Given the description of an element on the screen output the (x, y) to click on. 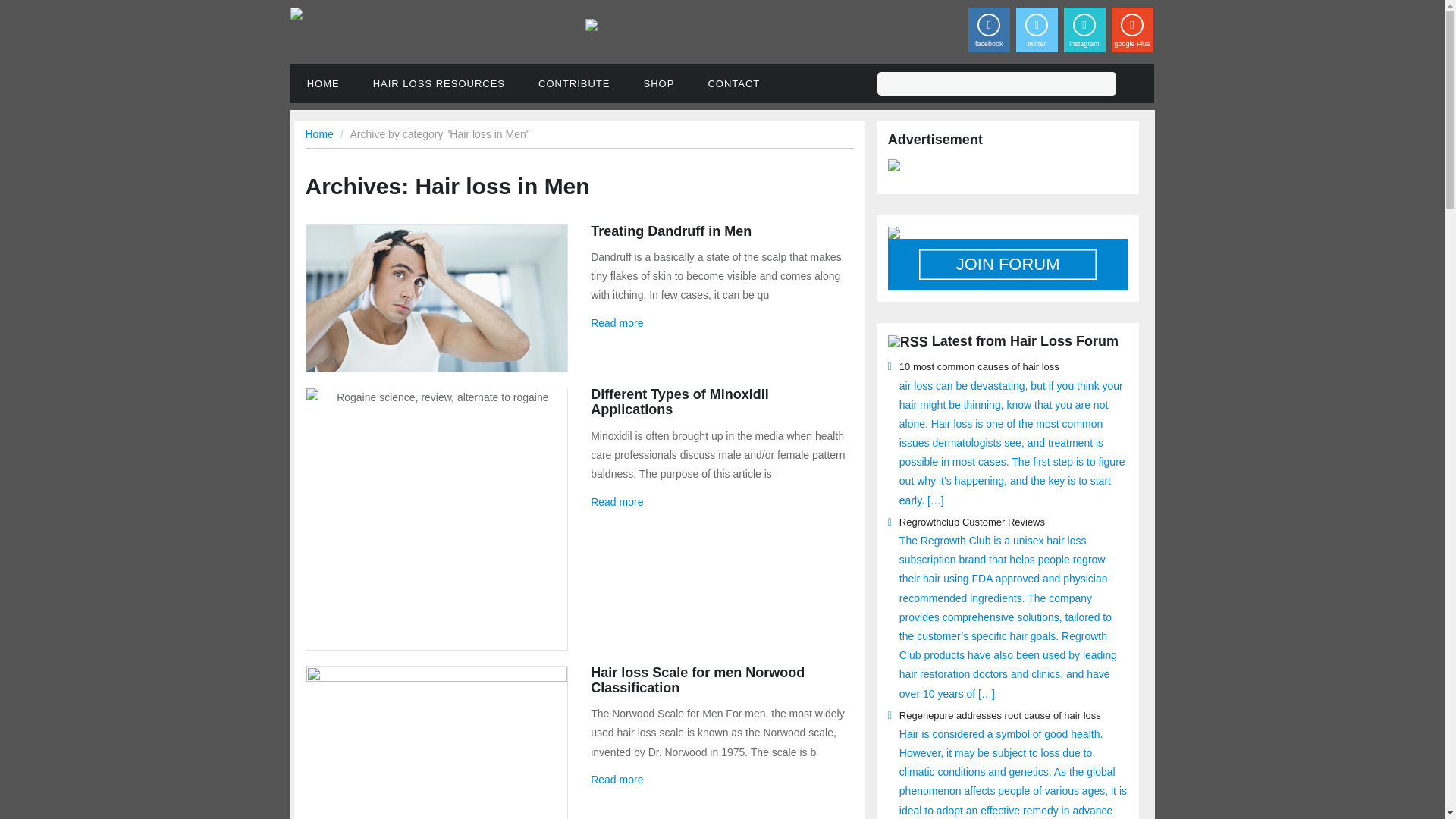
CONTACT (733, 83)
Facebook (989, 29)
twitter (1037, 29)
Instagram (1084, 29)
Treating Dandruff in Men (671, 231)
Search (1133, 85)
SHOP (659, 83)
facebook (989, 29)
HAIR LOSS RESOURCES (438, 83)
google Plus (1132, 29)
Google Plus (1132, 29)
Search (1133, 85)
HOME (322, 83)
Read more (617, 322)
Twitter (1037, 29)
